Given the description of an element on the screen output the (x, y) to click on. 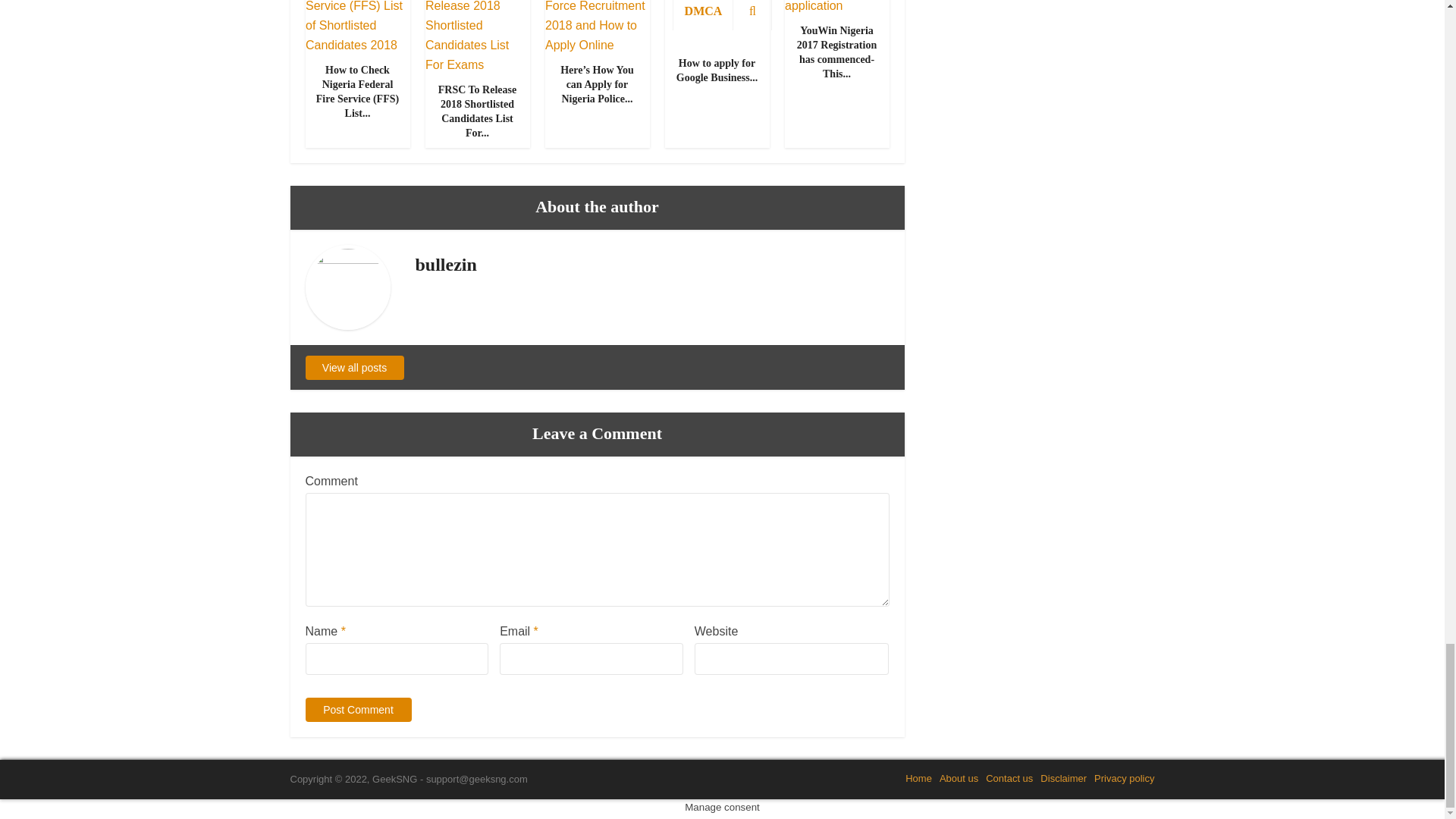
FRSC To Release 2018 Shortlisted Candidates List For Exams (477, 24)
FRSC To Release 2018 Shortlisted Candidates List For Exams (477, 111)
Post Comment (357, 709)
